Given the description of an element on the screen output the (x, y) to click on. 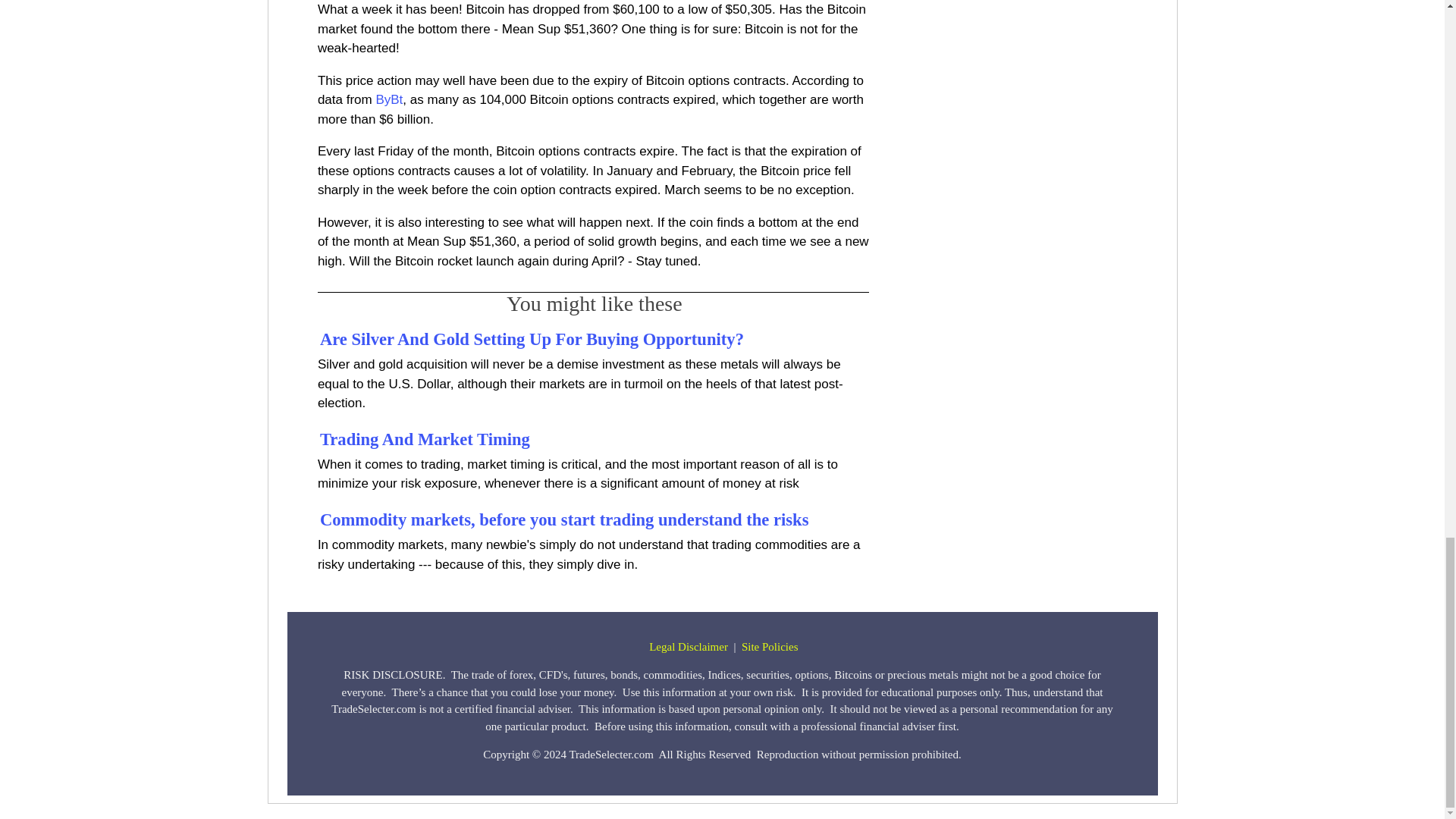
ByBt (389, 99)
